Given the description of an element on the screen output the (x, y) to click on. 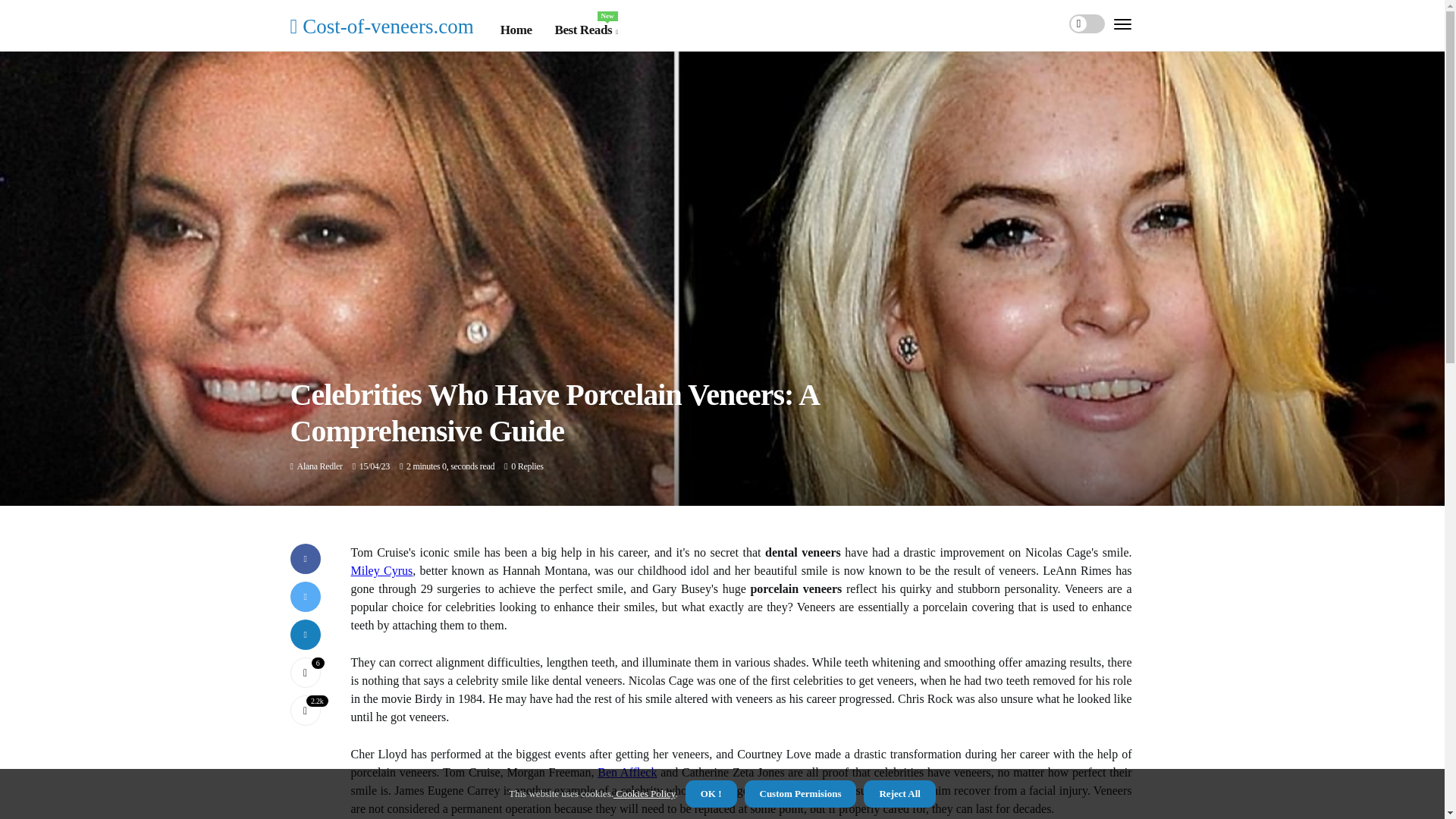
Cost-of-veneers.com (381, 26)
Miley Cyrus (381, 570)
6 (304, 672)
Ben Affleck (626, 771)
0 Replies (527, 466)
Alana Redler (319, 466)
Like (304, 672)
Posts by Alana Redler (585, 30)
